Given the description of an element on the screen output the (x, y) to click on. 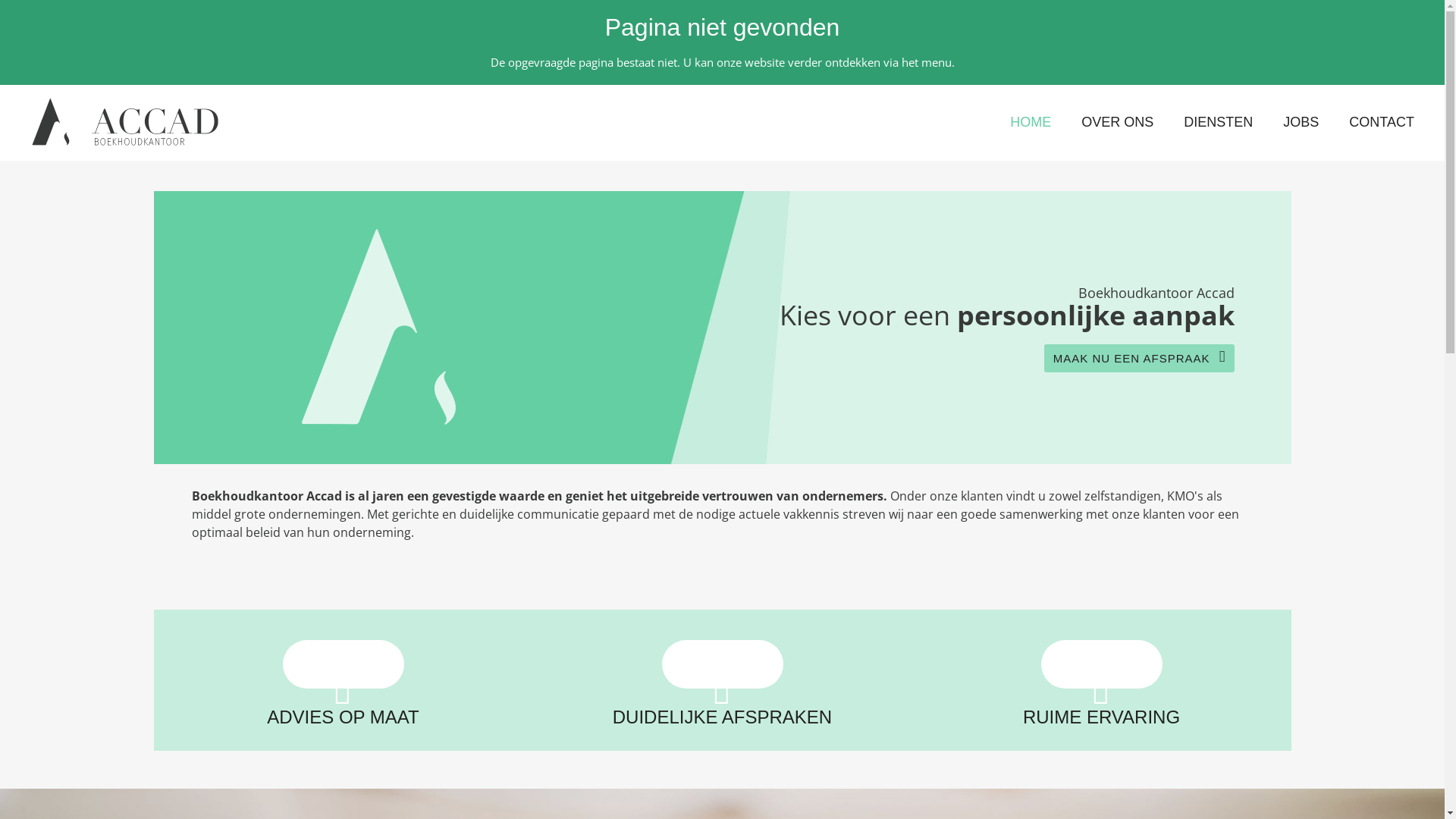
DIENSTEN Element type: text (1218, 122)
CONTACT Element type: text (1381, 122)
Accad boekhoudkantoor Element type: hover (100, 122)
JOBS Element type: text (1300, 122)
OVER ONS Element type: text (1117, 122)
HOME Element type: text (1030, 122)
MAAK NU EEN AFSPRAAK Element type: text (1139, 358)
